Given the description of an element on the screen output the (x, y) to click on. 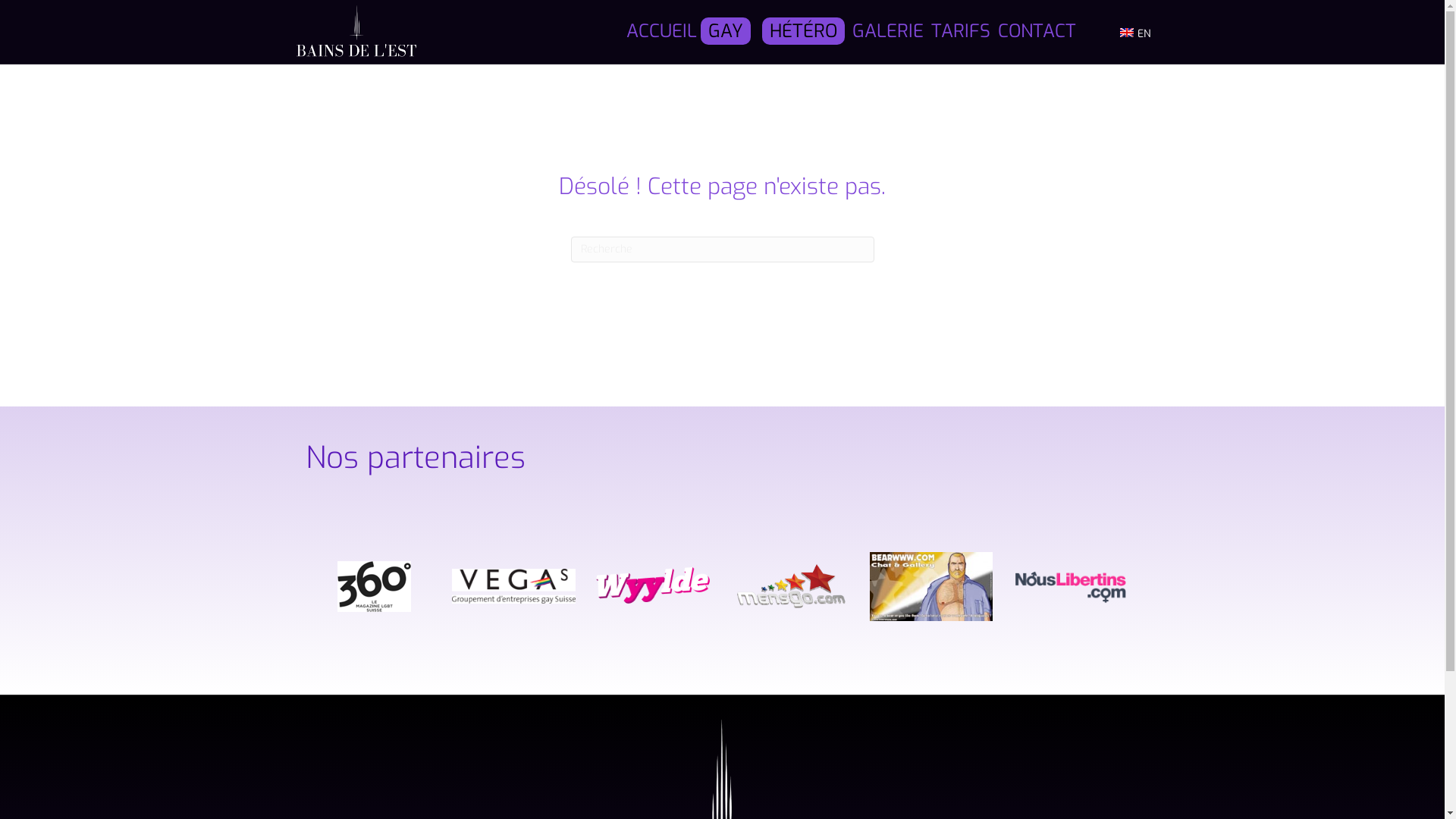
GAY Element type: text (725, 30)
CONTACT Element type: text (1036, 31)
EN Element type: text (1135, 31)
En Element type: hover (1126, 32)
GALERIE Element type: text (887, 31)
TARIFS Element type: text (960, 31)
ACCUEIL Element type: text (661, 31)
